Given the description of an element on the screen output the (x, y) to click on. 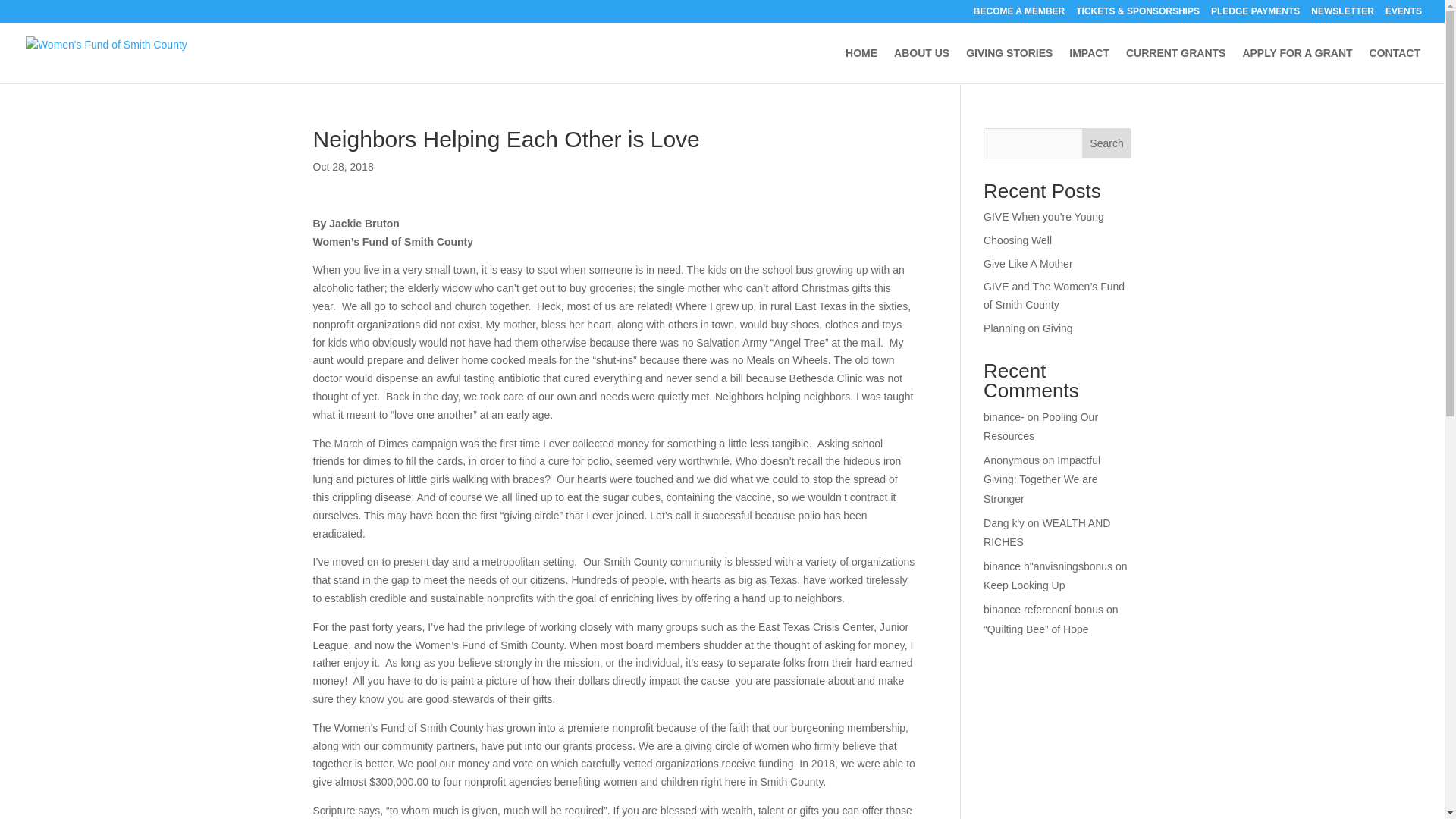
Anonymous (1011, 460)
Pooling Our Resources (1040, 426)
Dang k'y (1004, 522)
ABOUT US (921, 65)
binance- (1004, 417)
HOME (861, 65)
WEALTH AND RICHES (1046, 531)
NEWSLETTER (1342, 14)
Keep Looking Up (1024, 585)
Choosing Well (1017, 240)
